Given the description of an element on the screen output the (x, y) to click on. 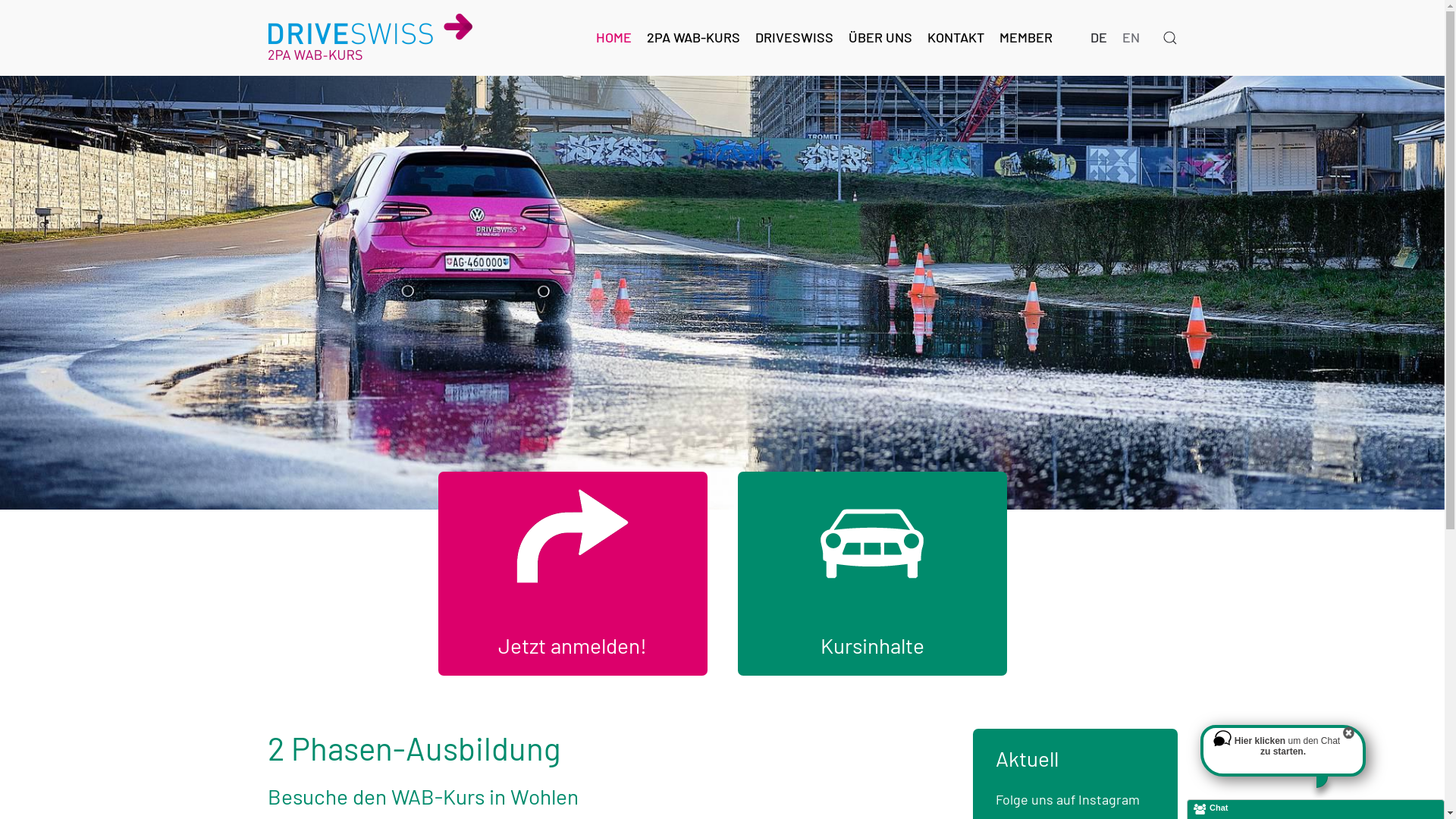
DE Element type: text (1098, 37)
MEMBER Element type: text (1025, 37)
2PA WAB-KURS Element type: text (692, 37)
DRIVESWISS Element type: text (794, 37)
HOME Element type: text (613, 37)
KONTAKT Element type: text (954, 37)
Folge uns auf Instagram Element type: text (1066, 798)
EN Element type: text (1130, 37)
Jetzt anmelden! Element type: text (572, 645)
Kursinhalte Element type: text (872, 645)
